Given the description of an element on the screen output the (x, y) to click on. 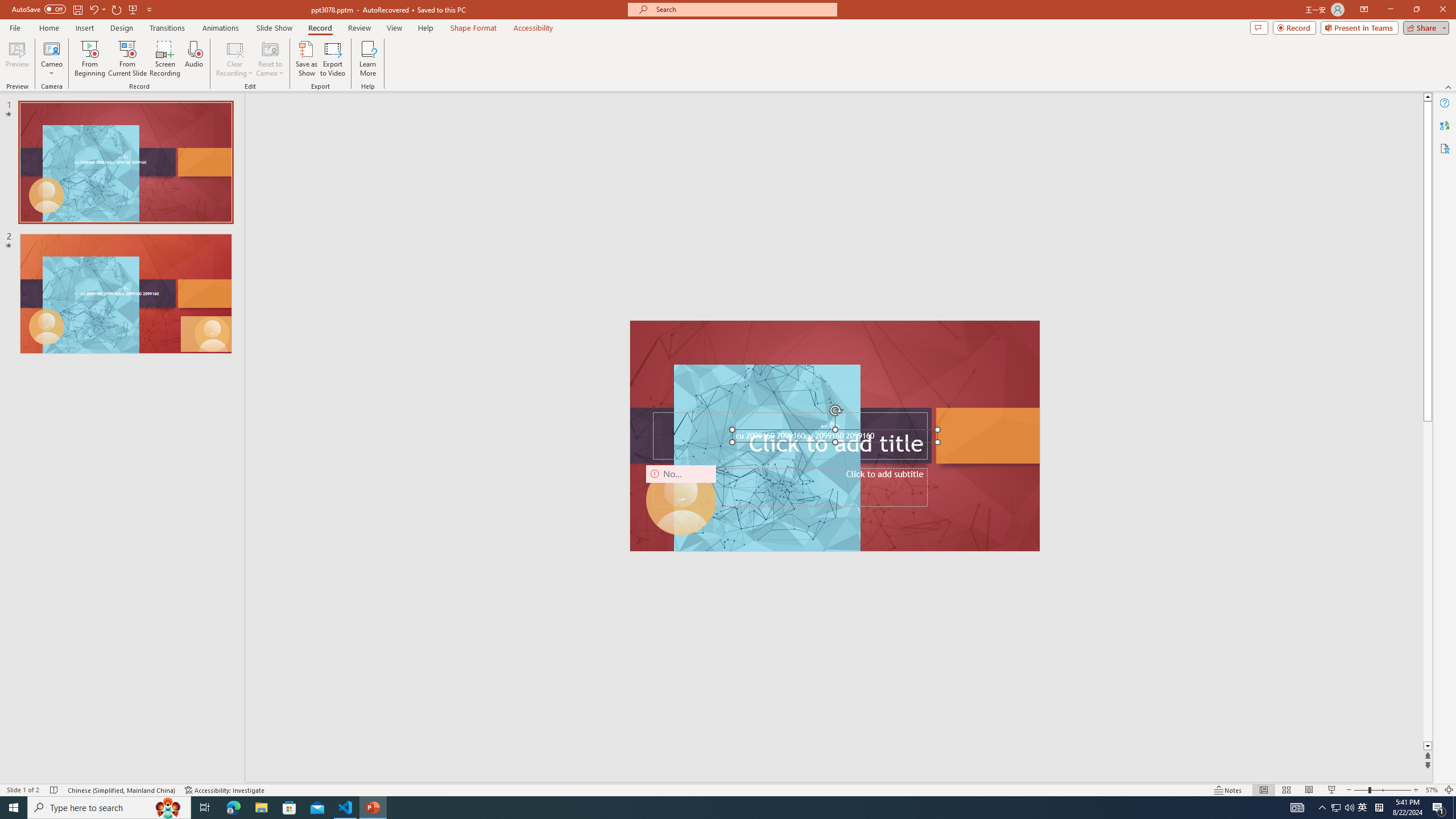
Camera 9, No camera detected. (681, 500)
